Given the description of an element on the screen output the (x, y) to click on. 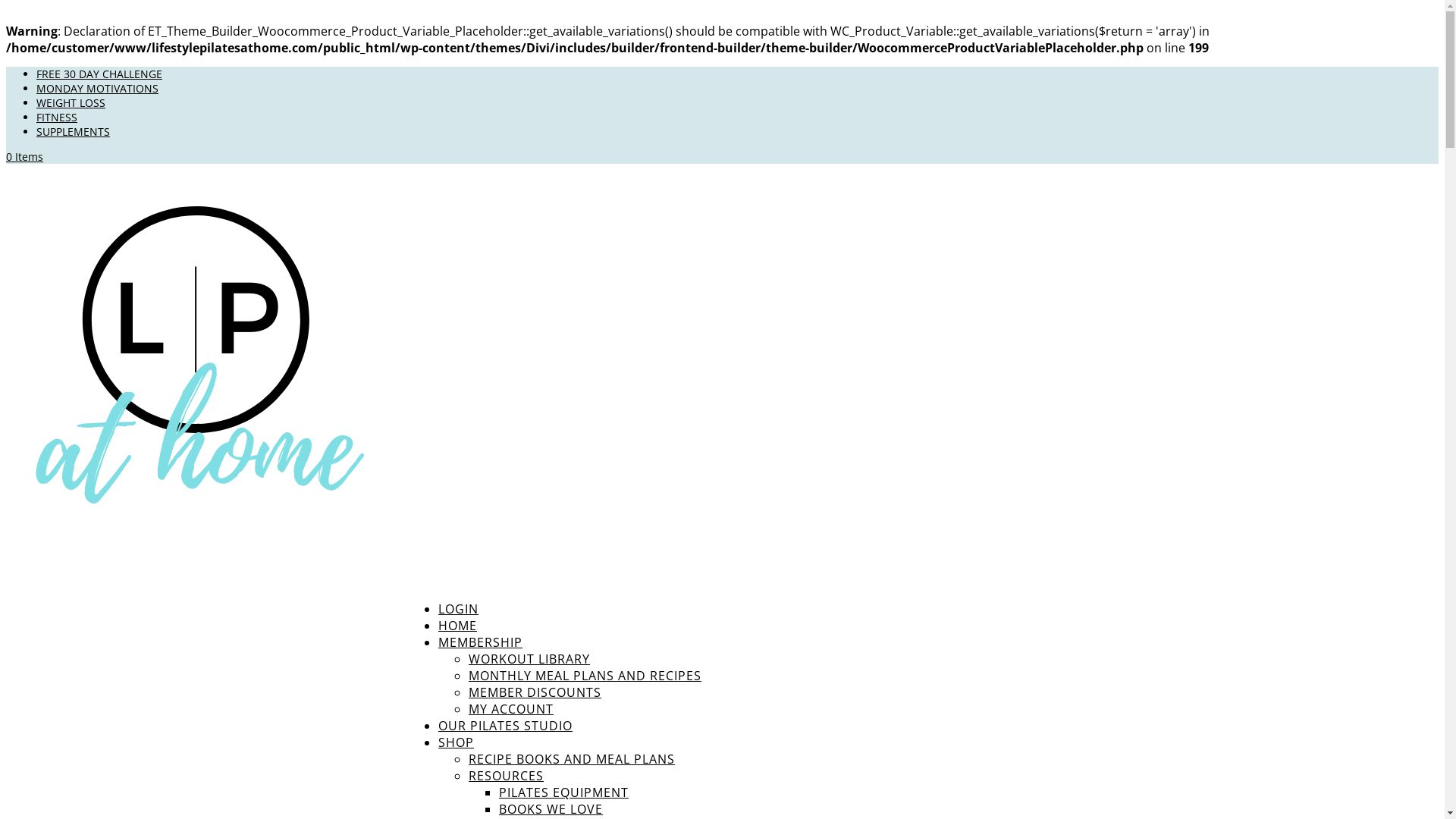
MONTHLY MEAL PLANS AND RECIPES Element type: text (584, 675)
PILATES EQUIPMENT Element type: text (563, 792)
FITNESS Element type: text (56, 116)
SUPPLEMENTS Element type: text (72, 131)
MY ACCOUNT Element type: text (510, 708)
MEMBER DISCOUNTS Element type: text (534, 692)
RECIPE BOOKS AND MEAL PLANS Element type: text (571, 758)
RESOURCES Element type: text (505, 775)
MEMBERSHIP Element type: text (480, 664)
LOGIN Element type: text (458, 631)
0 Items Element type: text (24, 156)
WORKOUT LIBRARY Element type: text (528, 658)
OUR PILATES STUDIO Element type: text (505, 748)
WEIGHT LOSS Element type: text (70, 102)
MONDAY MOTIVATIONS Element type: text (97, 88)
FREE 30 DAY CHALLENGE Element type: text (99, 73)
BOOKS WE LOVE Element type: text (550, 808)
HOME Element type: text (457, 648)
SHOP Element type: text (455, 765)
